Given the description of an element on the screen output the (x, y) to click on. 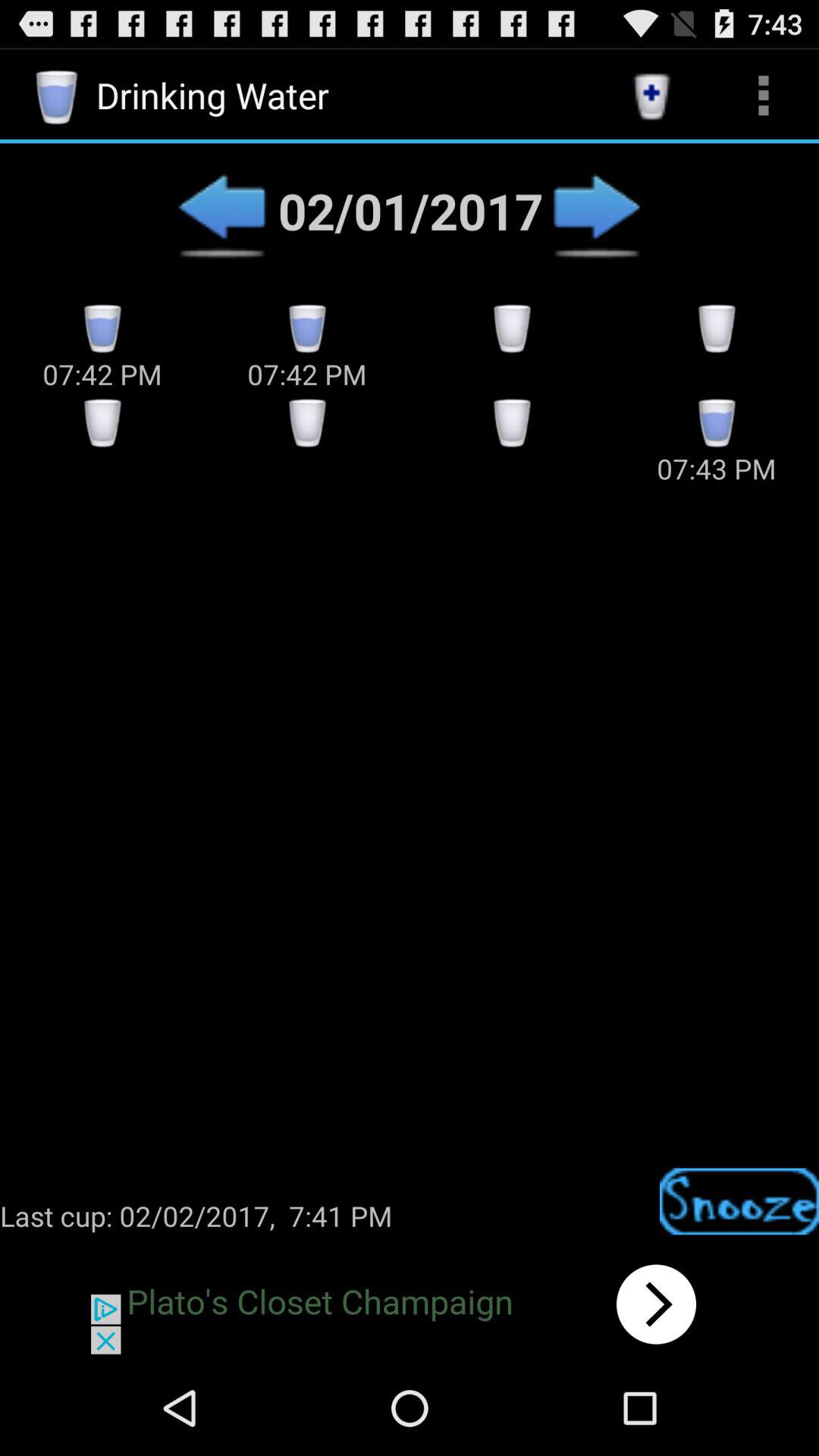
open advertisement (409, 1304)
